Given the description of an element on the screen output the (x, y) to click on. 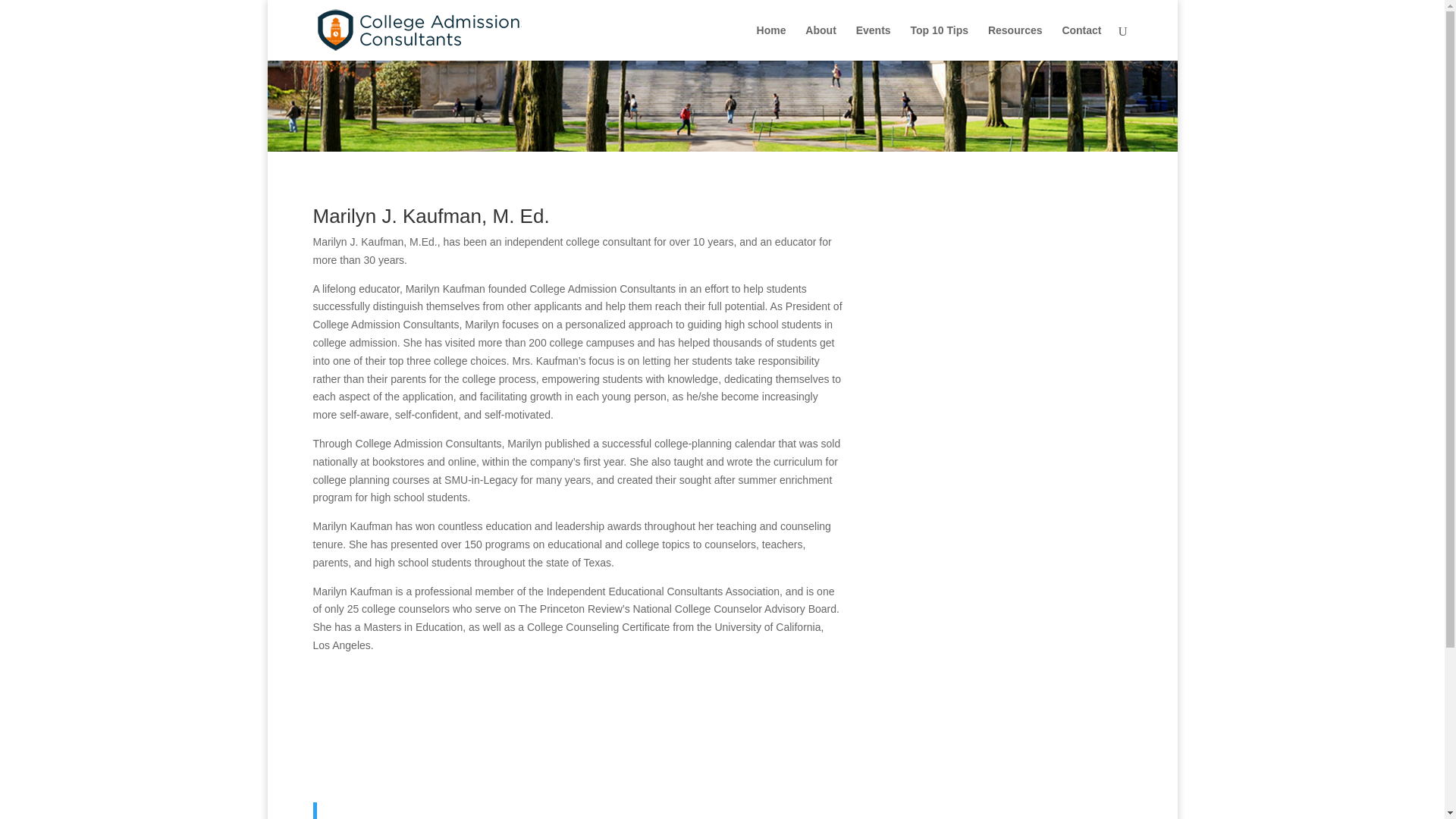
Top 10 Tips (939, 42)
Events (873, 42)
Contact (1080, 42)
Resources (1015, 42)
